Given the description of an element on the screen output the (x, y) to click on. 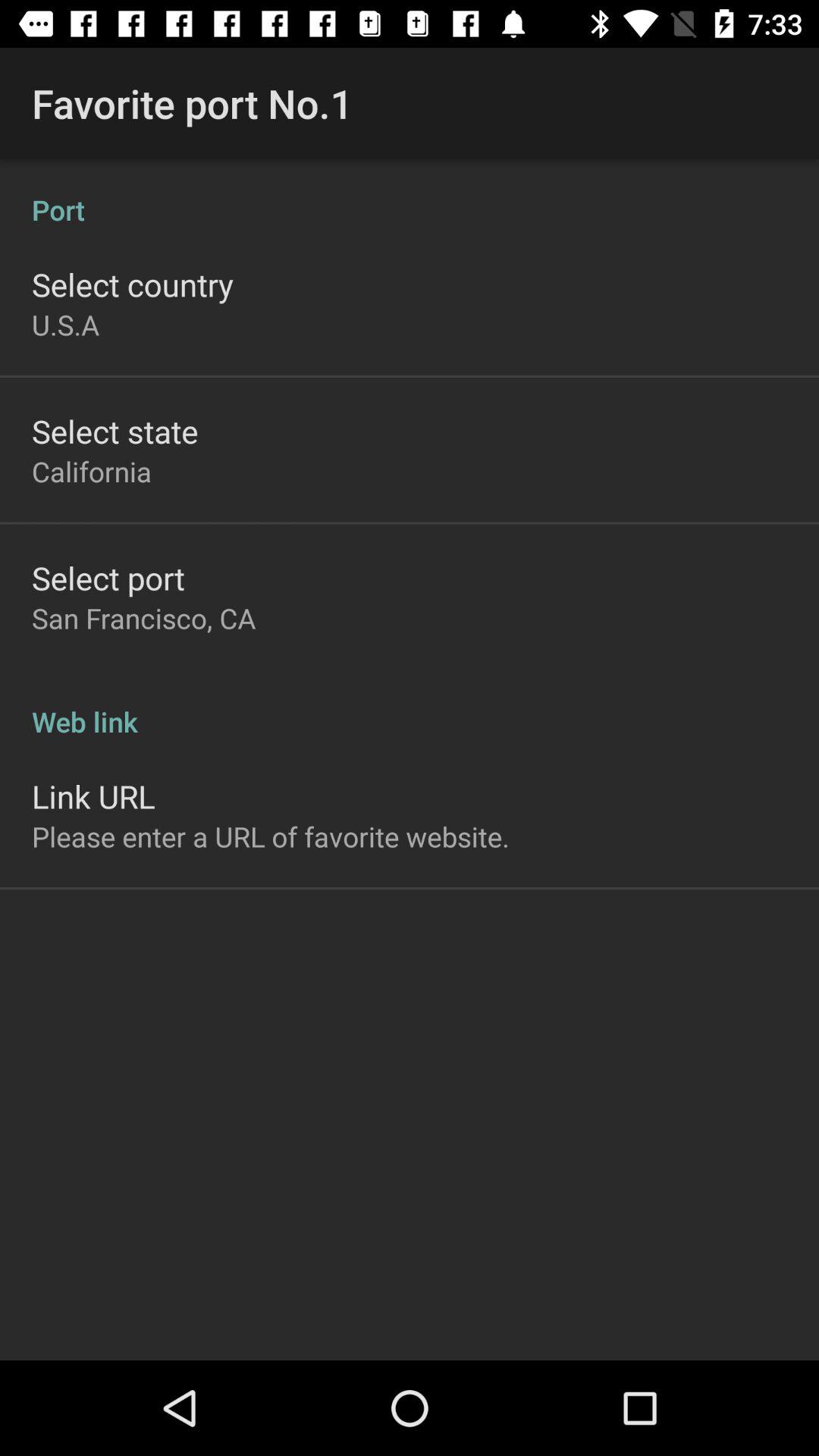
choose the icon below san francisco, ca item (409, 705)
